Given the description of an element on the screen output the (x, y) to click on. 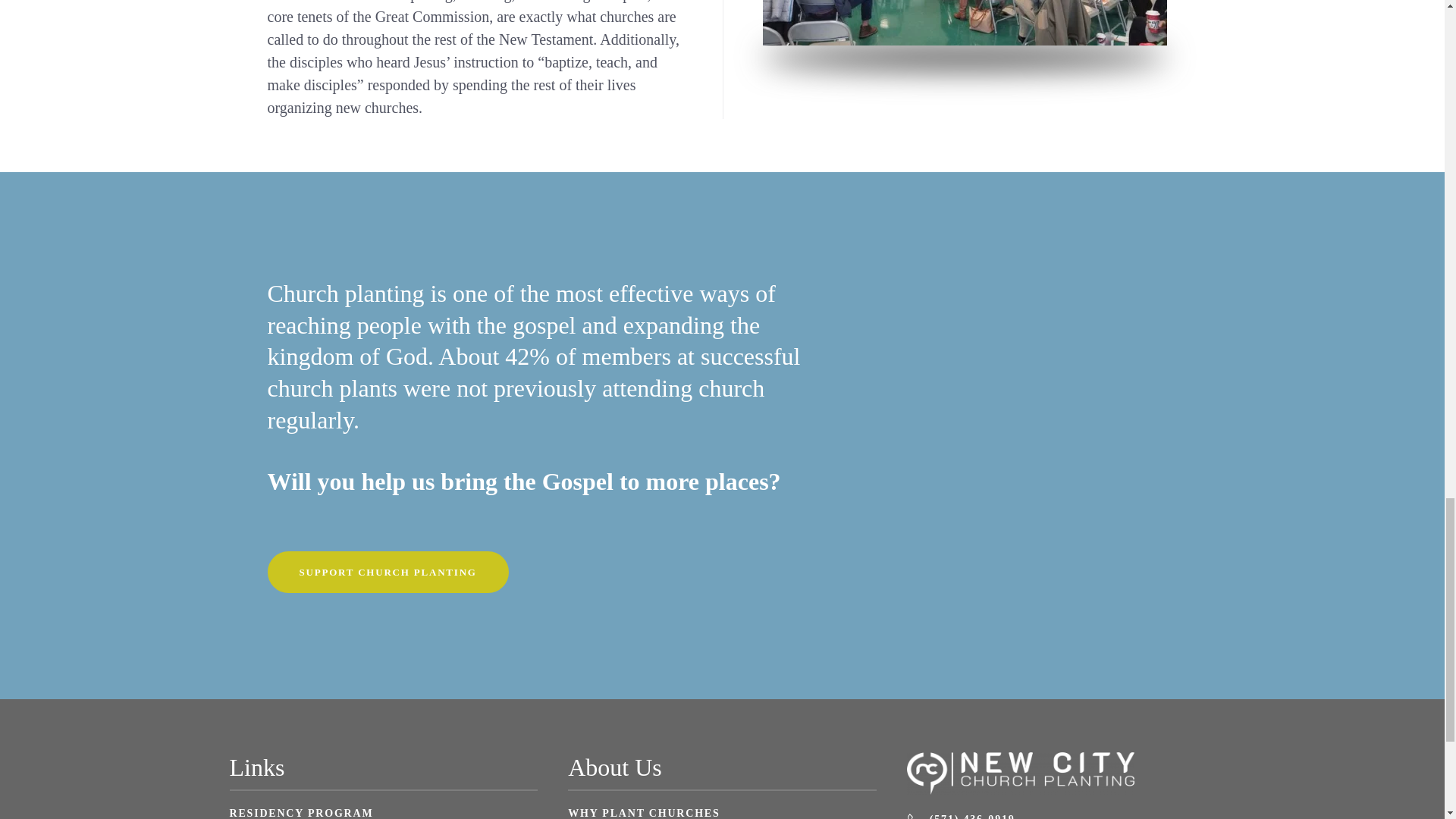
RESIDENCY PROGRAM (300, 813)
SUPPORT CHURCH PLANTING (387, 571)
WHY PLANT CHURCHES (721, 812)
